Given the description of an element on the screen output the (x, y) to click on. 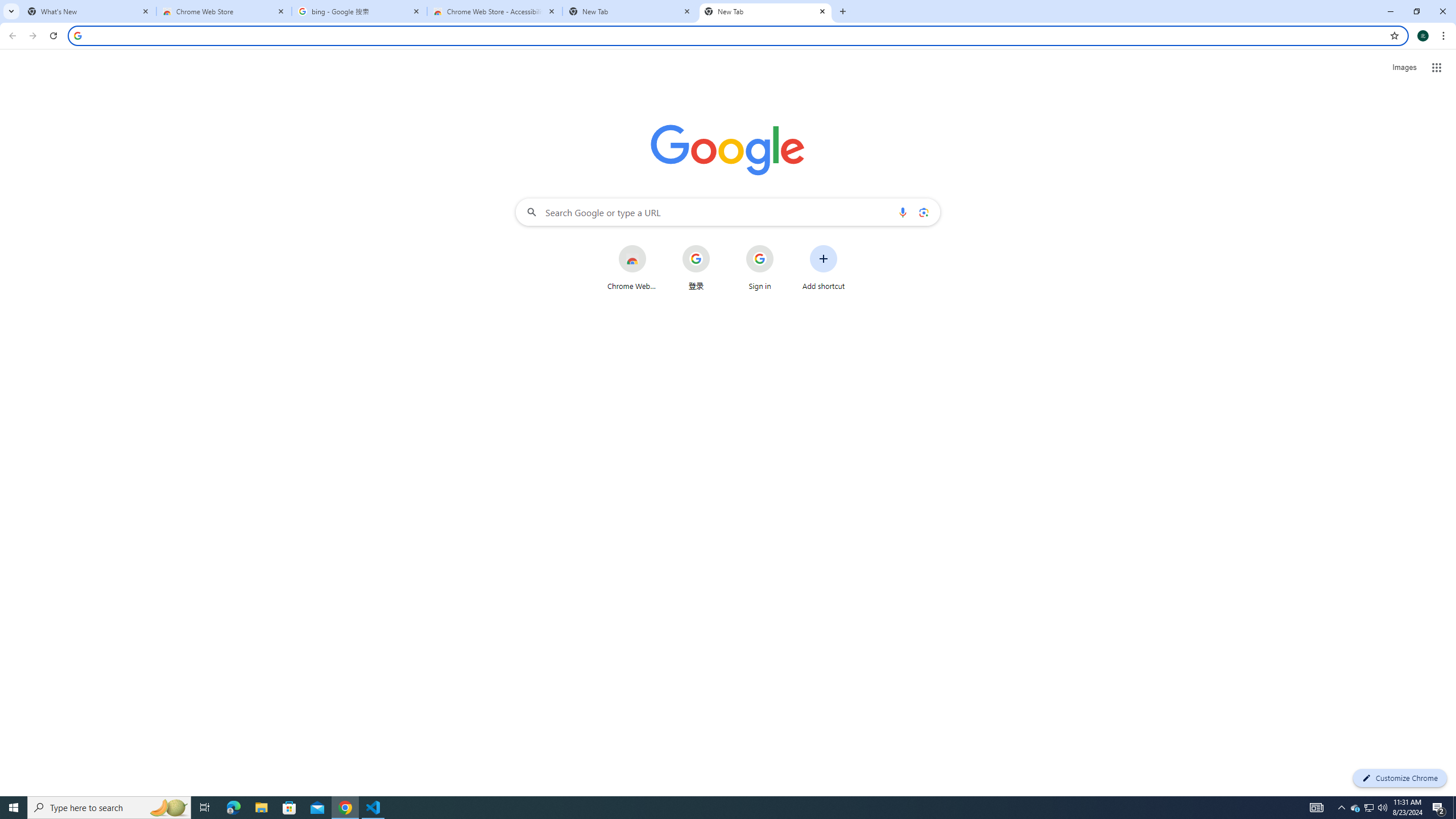
New Tab (630, 11)
Chrome Web Store (224, 11)
